Given the description of an element on the screen output the (x, y) to click on. 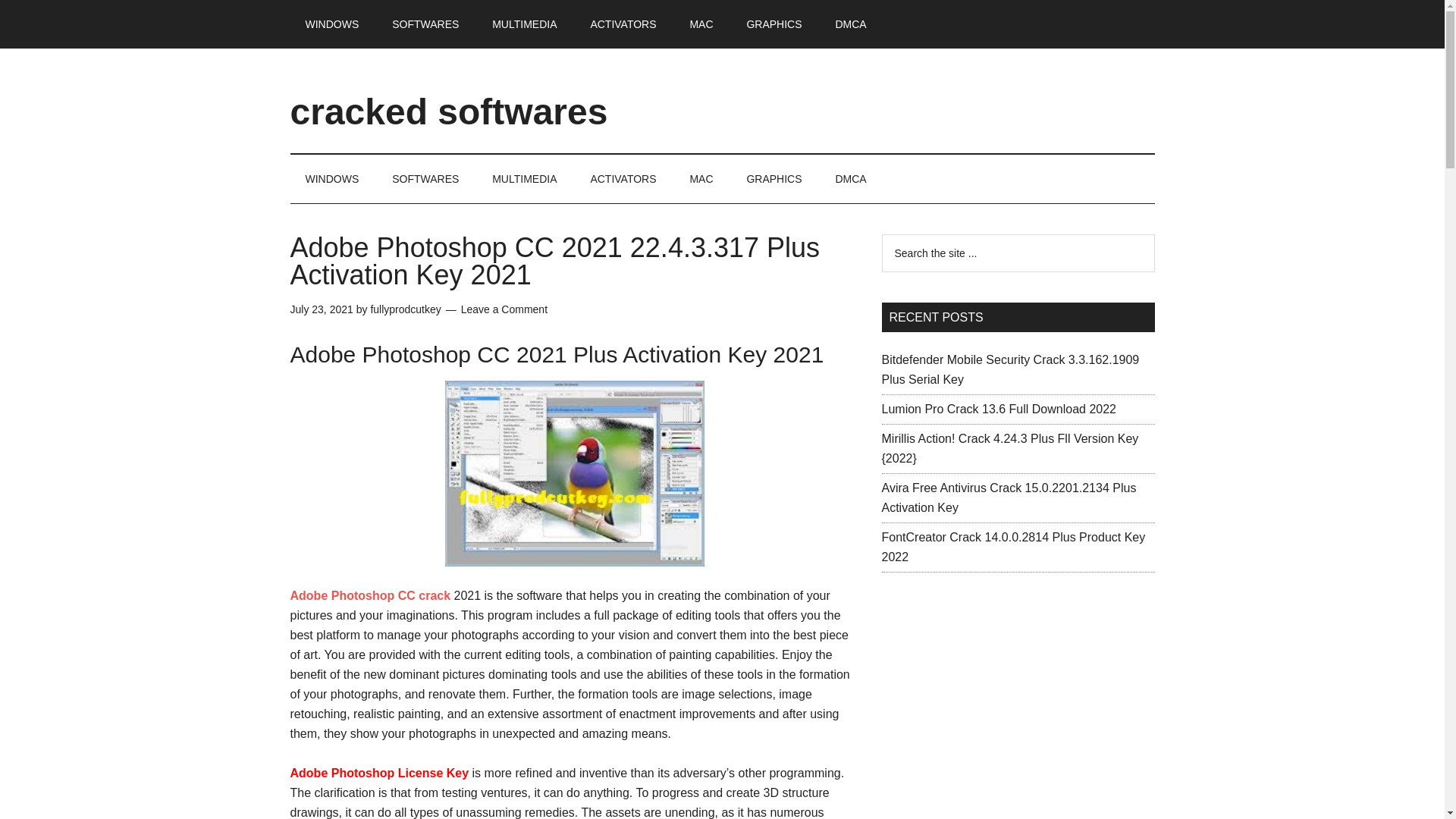
GRAPHICS (773, 178)
ACTIVATORS (623, 24)
SOFTWARES (425, 24)
MULTIMEDIA (524, 178)
MAC (701, 178)
Leave a Comment (504, 309)
GRAPHICS (773, 24)
SOFTWARES (425, 178)
MULTIMEDIA (524, 24)
DMCA (849, 178)
FontCreator Crack 14.0.0.2814 Plus Product Key 2022 (1012, 546)
DMCA (849, 24)
ACTIVATORS (623, 178)
cracked softwares (448, 111)
